Given the description of an element on the screen output the (x, y) to click on. 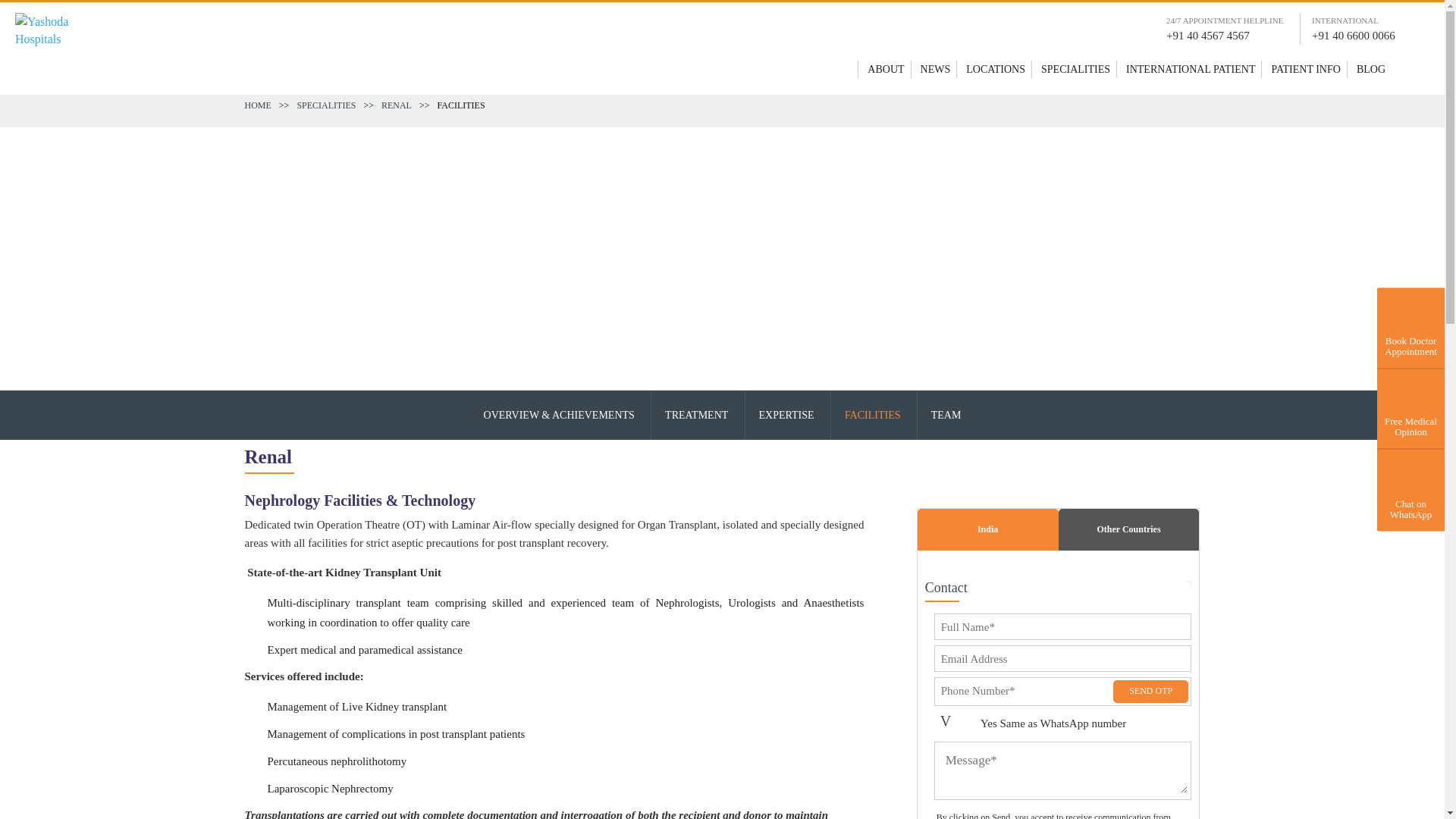
NEWS (935, 68)
Send OTP (1151, 691)
ABOUT (885, 68)
Yashoda Specialities (1075, 68)
Locations (995, 68)
SPECIALITIES (1075, 68)
Yes (955, 724)
Yashoda in News (935, 68)
LOCATIONS (995, 68)
